Given the description of an element on the screen output the (x, y) to click on. 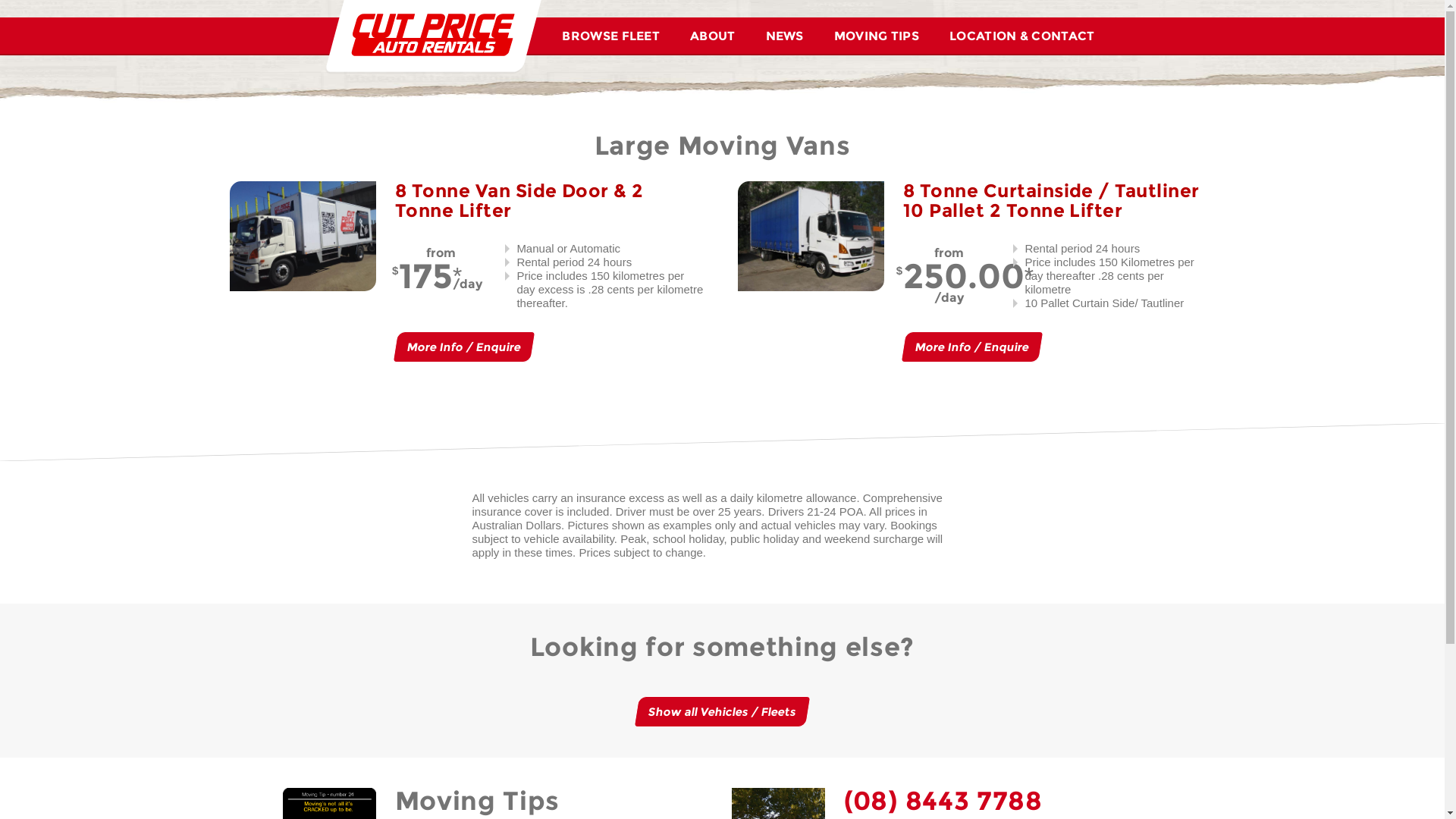
BROWSE FLEET Element type: text (610, 35)
More Info / Enquire Element type: text (461, 346)
More Info / Enquire Element type: text (969, 346)
8 Tonne Curtainside / Tautliner 10 Pallet 2 Tonne Lifter Element type: text (1051, 200)
8 Tonne Van Side Door & 2 Tonne Lifter Element type: text (519, 200)
NEWS Element type: text (784, 35)
(08) 8443 7788 Element type: text (943, 800)
LOCATION & CONTACT Element type: text (1021, 35)
MOVING TIPS Element type: text (876, 35)
ABOUT Element type: text (712, 35)
Show all Vehicles / Fleets Element type: text (719, 711)
